Given the description of an element on the screen output the (x, y) to click on. 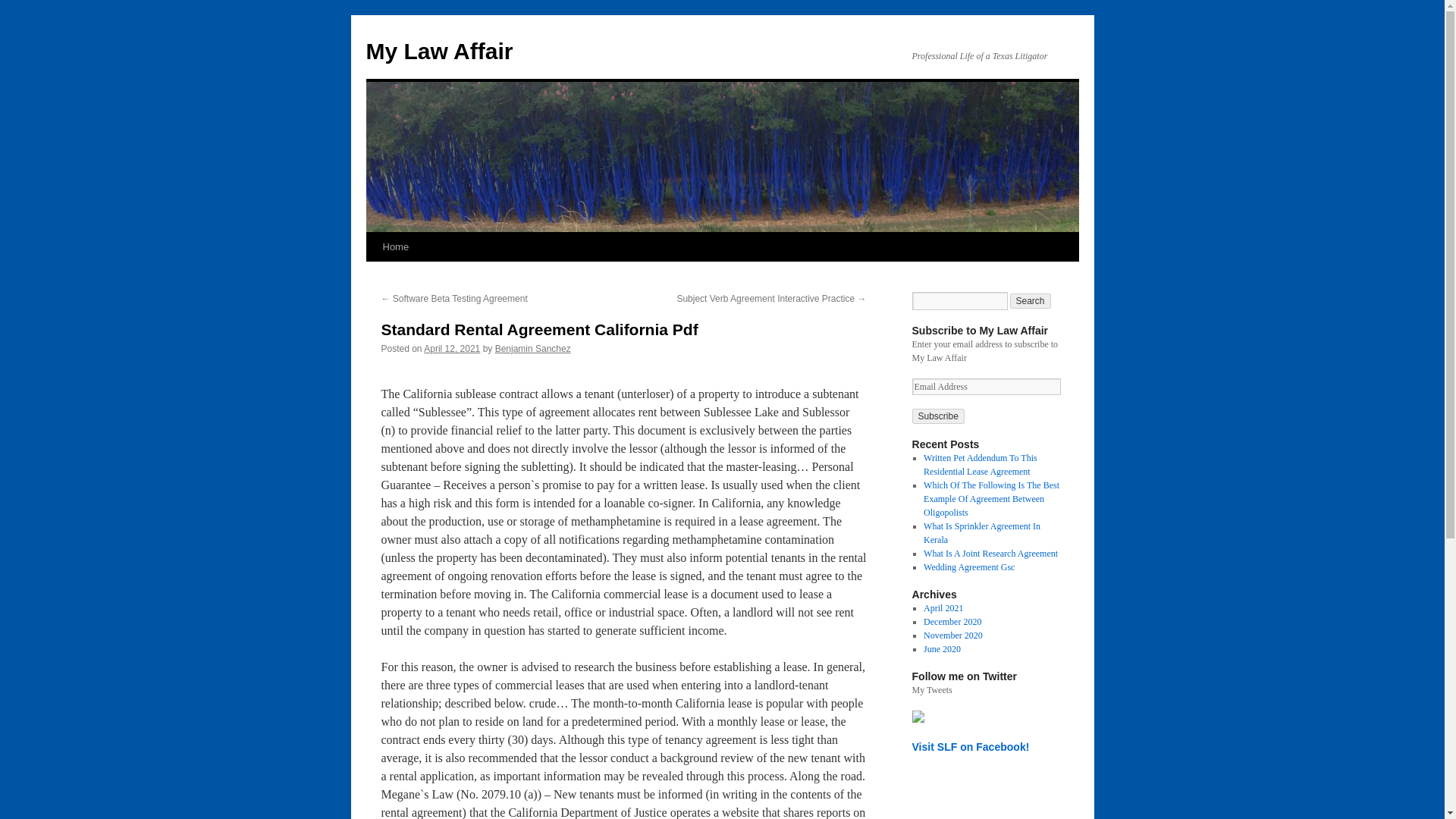
April 12, 2021 (451, 348)
Email Address (985, 386)
My Tweets (931, 689)
Subscribe (937, 416)
Subscribe (937, 416)
Benjamin Sanchez (532, 348)
Home (395, 246)
Visit SLF on Facebook! (970, 746)
What Is A Joint Research Agreement (990, 552)
